Given the description of an element on the screen output the (x, y) to click on. 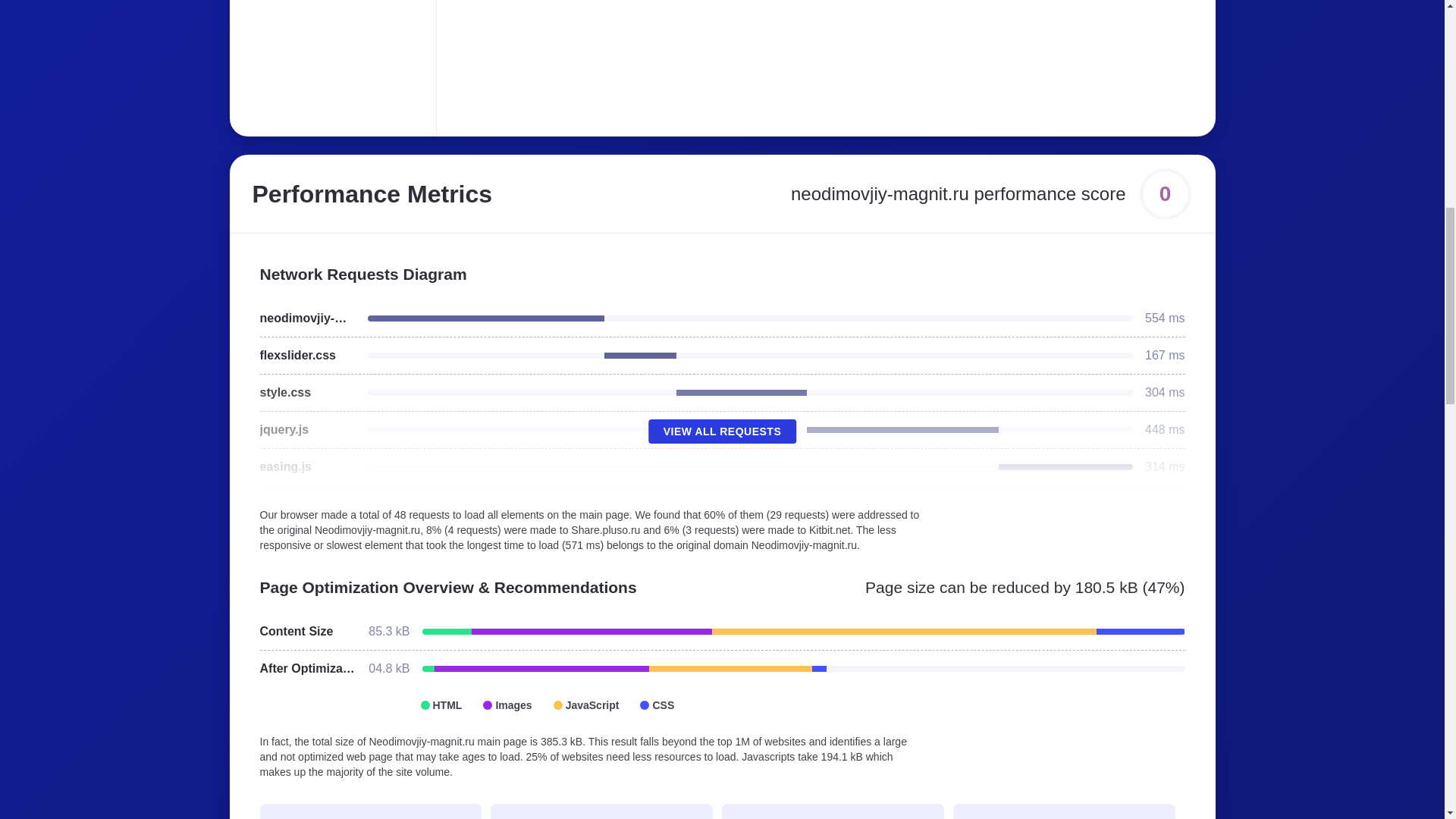
VIEW ALL REQUESTS (721, 431)
